Given the description of an element on the screen output the (x, y) to click on. 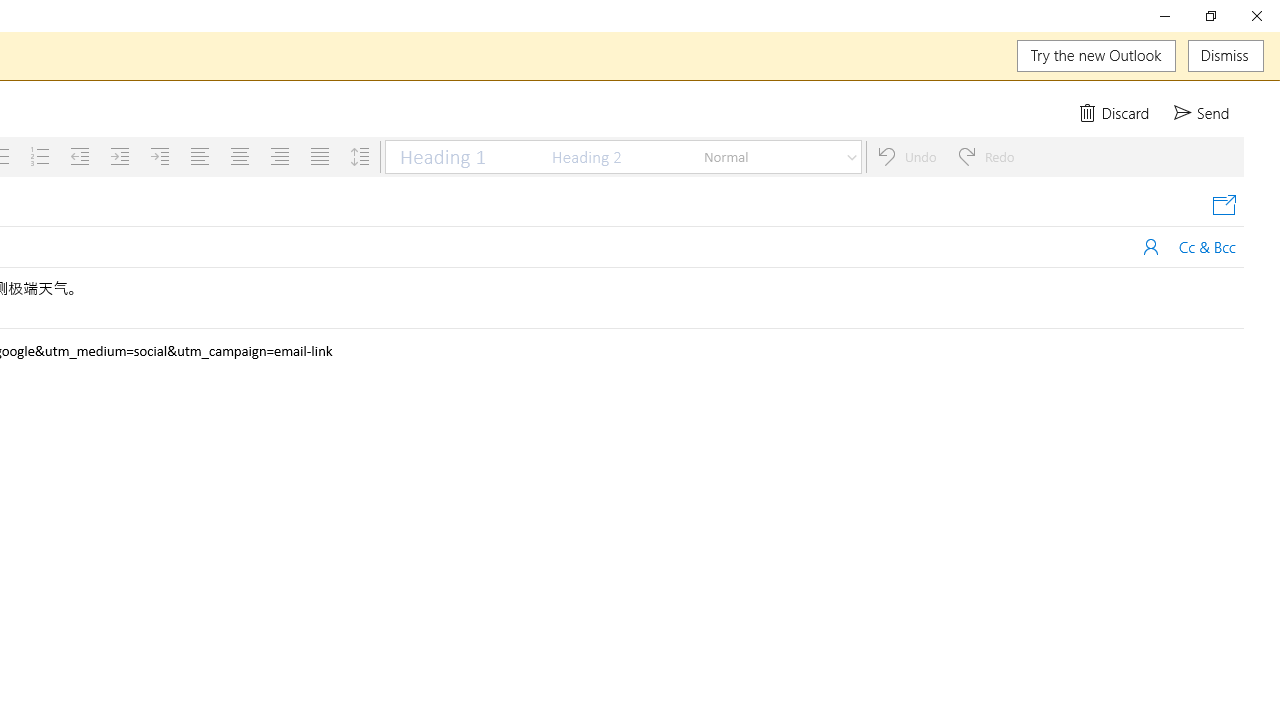
Align Left (200, 156)
Numbering (40, 156)
Center (239, 156)
CcBcc (1207, 246)
Undo (906, 156)
Align Right (279, 156)
Justify (319, 156)
Quick Access Commands (1156, 112)
Heading 1 (461, 156)
